Given the description of an element on the screen output the (x, y) to click on. 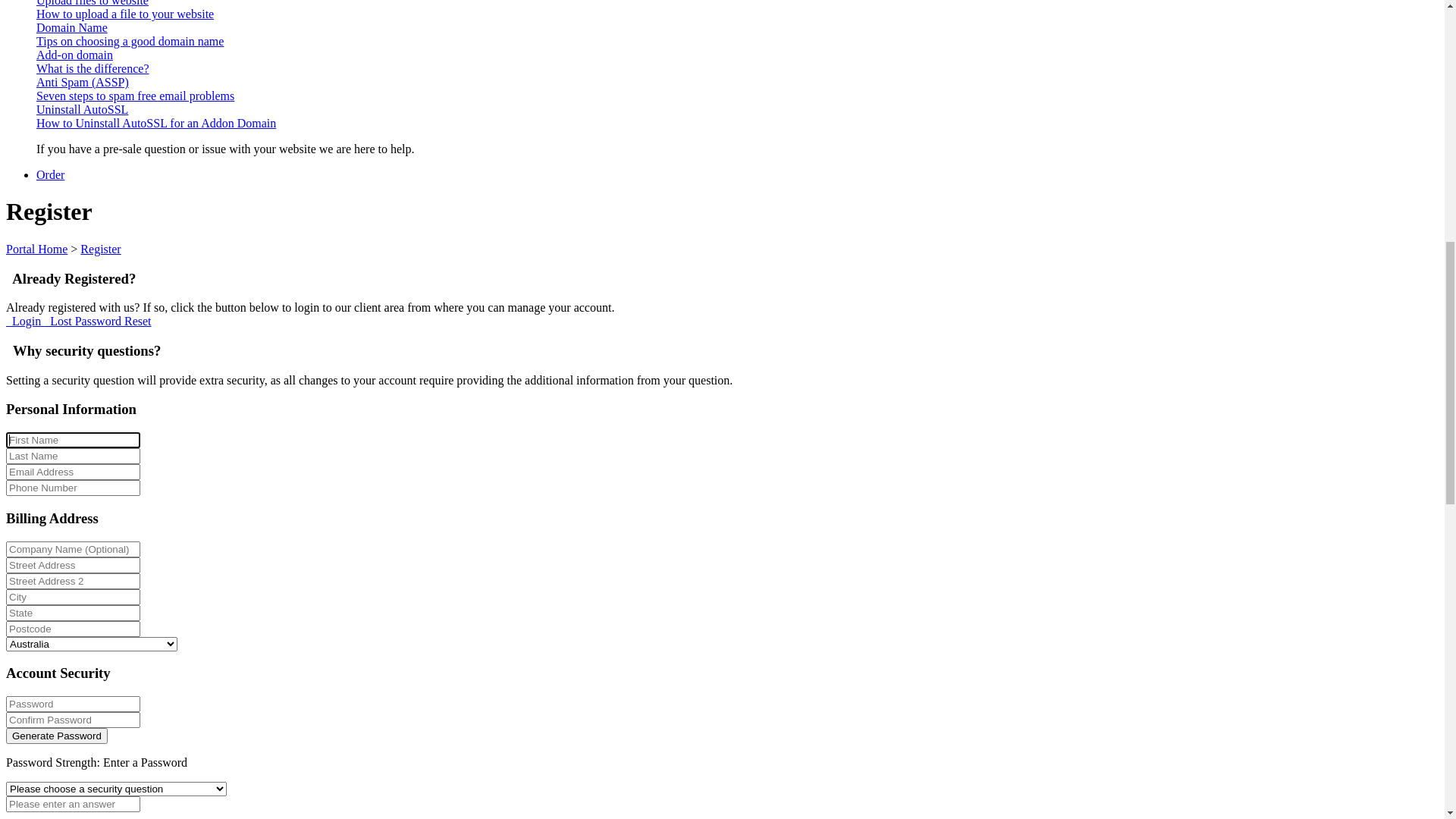
Support Element type: text (55, 517)
Setup Android
How to setup your android email client Element type: text (737, 674)
Contact Form
Contact our pre-sales department Element type: text (737, 538)
View Cart (0) Element type: text (69, 51)
Knowledgebase Element type: text (44, 104)
Bussiness Hosting
Premium cPanel web hosting Element type: text (737, 325)
Announcements
Get up to date with the latest news Element type: text (737, 459)
Company Element type: text (59, 383)
Company
Learn more about Ausmade Hosting Service Element type: text (737, 404)
Why Choose Us
The reasons why to choose us Element type: text (737, 431)
Setup Outlook
How to set up your Outlook email client Element type: text (737, 647)
Submit Ticket
Contact our support via ticket Element type: text (737, 565)
Knowledgebase
View our vast documentation Element type: text (737, 613)
Domain Name
Tips on choosing a good domain name Element type: text (737, 756)
Contact Element type: text (55, 37)
Domains Element type: text (58, 144)
Register Domain
Your very own website address Element type: text (737, 185)
FAQ Element type: text (47, 626)
Upload files to website
How to upload a file to your website Element type: text (737, 729)
Transfer Domain
Move your domain to Ausmade Hosting Service Element type: text (737, 205)
Add-on domain
What is the difference? Element type: text (737, 783)
Web Hosting Element type: text (68, 263)
Setup Iphone
How to setup your iphone email client Element type: text (737, 701)
Home Hosting
Premium cPanel web hosting Element type: text (737, 305)
Client Area Element type: text (63, 65)
